Given the description of an element on the screen output the (x, y) to click on. 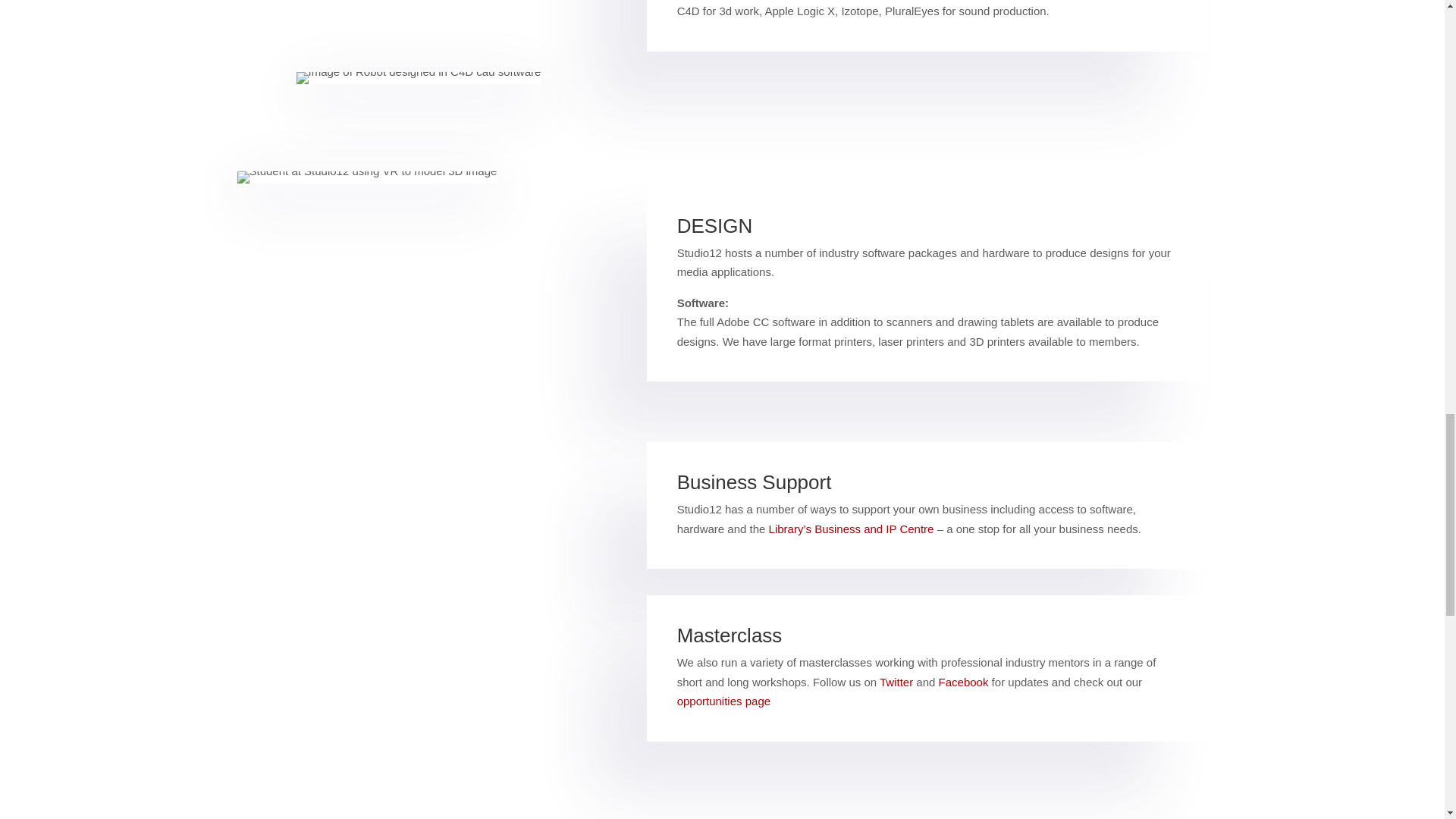
opportunities page (723, 700)
Page 4 (927, 668)
Page 4 (927, 284)
Facebook (963, 681)
Page 4 (927, 505)
Twitter (895, 681)
Page 4 (927, 10)
